Given the description of an element on the screen output the (x, y) to click on. 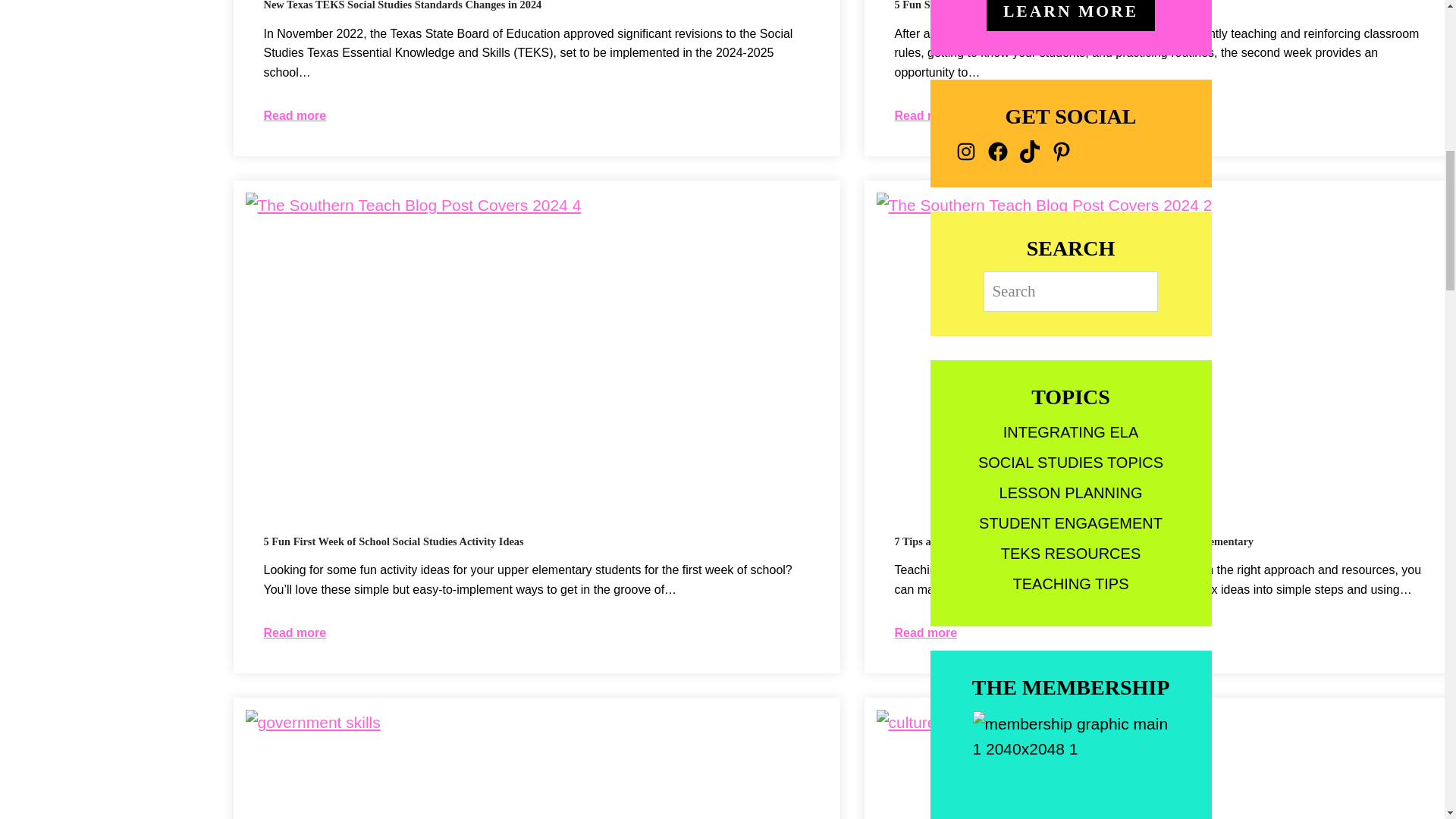
Read more (294, 116)
Read more (926, 116)
Read more (294, 632)
